Given the description of an element on the screen output the (x, y) to click on. 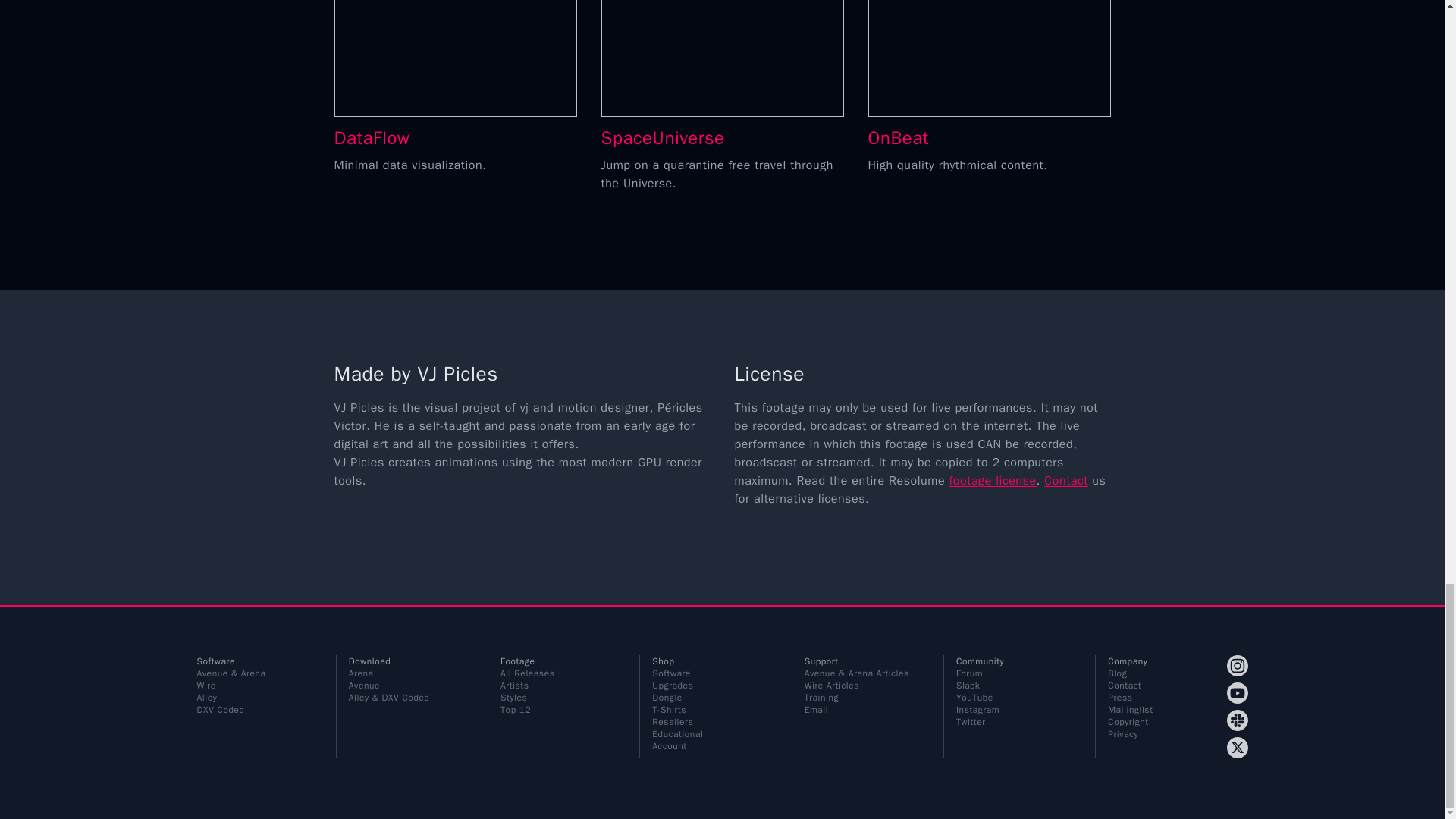
Instagram (1237, 665)
Slack (1237, 720)
Twitter (1237, 747)
YouTube (1237, 692)
